Given the description of an element on the screen output the (x, y) to click on. 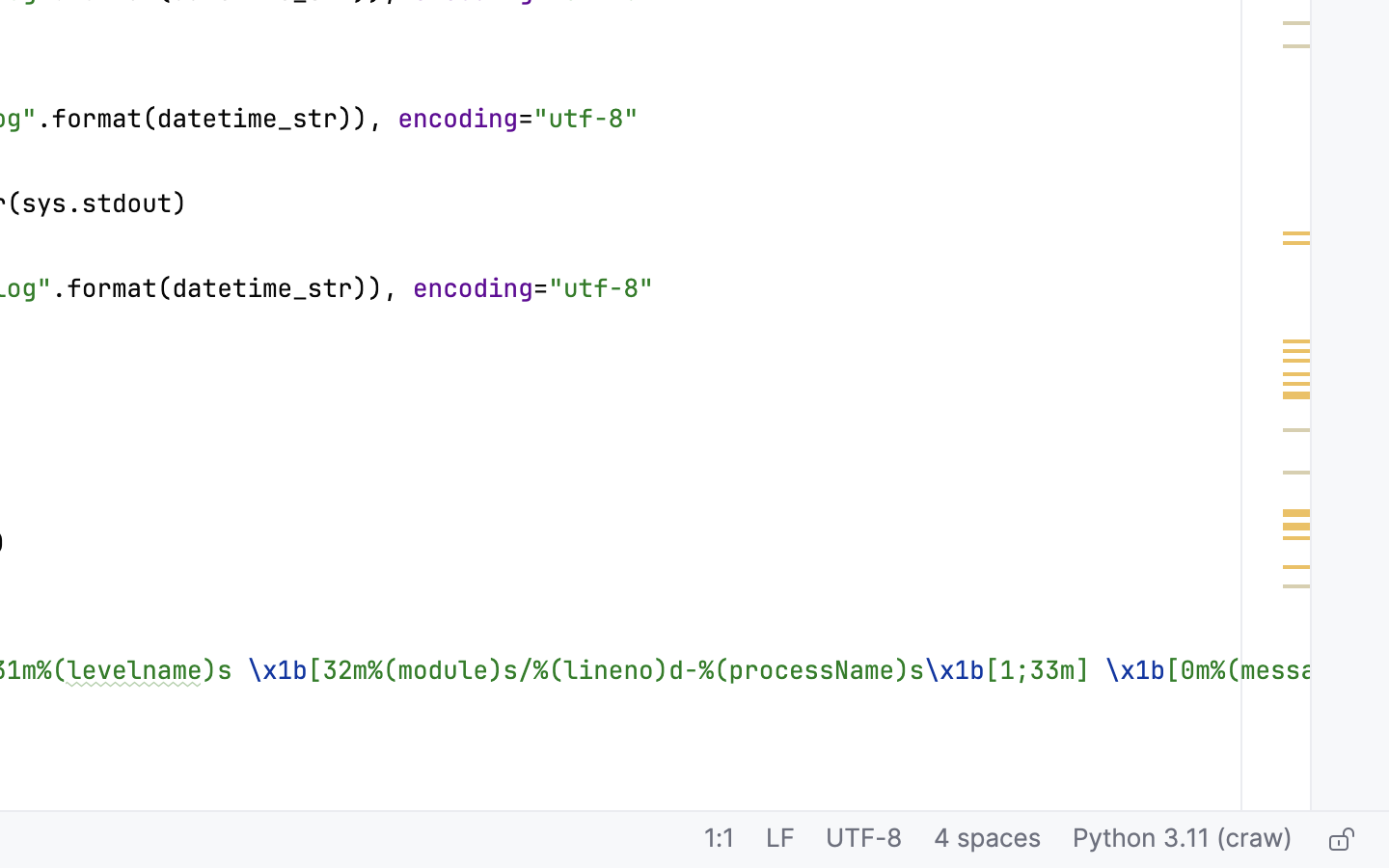
4 spaces Element type: AXStaticText (987, 839)
1:1 Element type: AXStaticText (719, 840)
Python 3.11 (craw) Element type: AXStaticText (1182, 840)
LF Element type: AXStaticText (780, 840)
UTF-8 Element type: AXStaticText (864, 840)
